Given the description of an element on the screen output the (x, y) to click on. 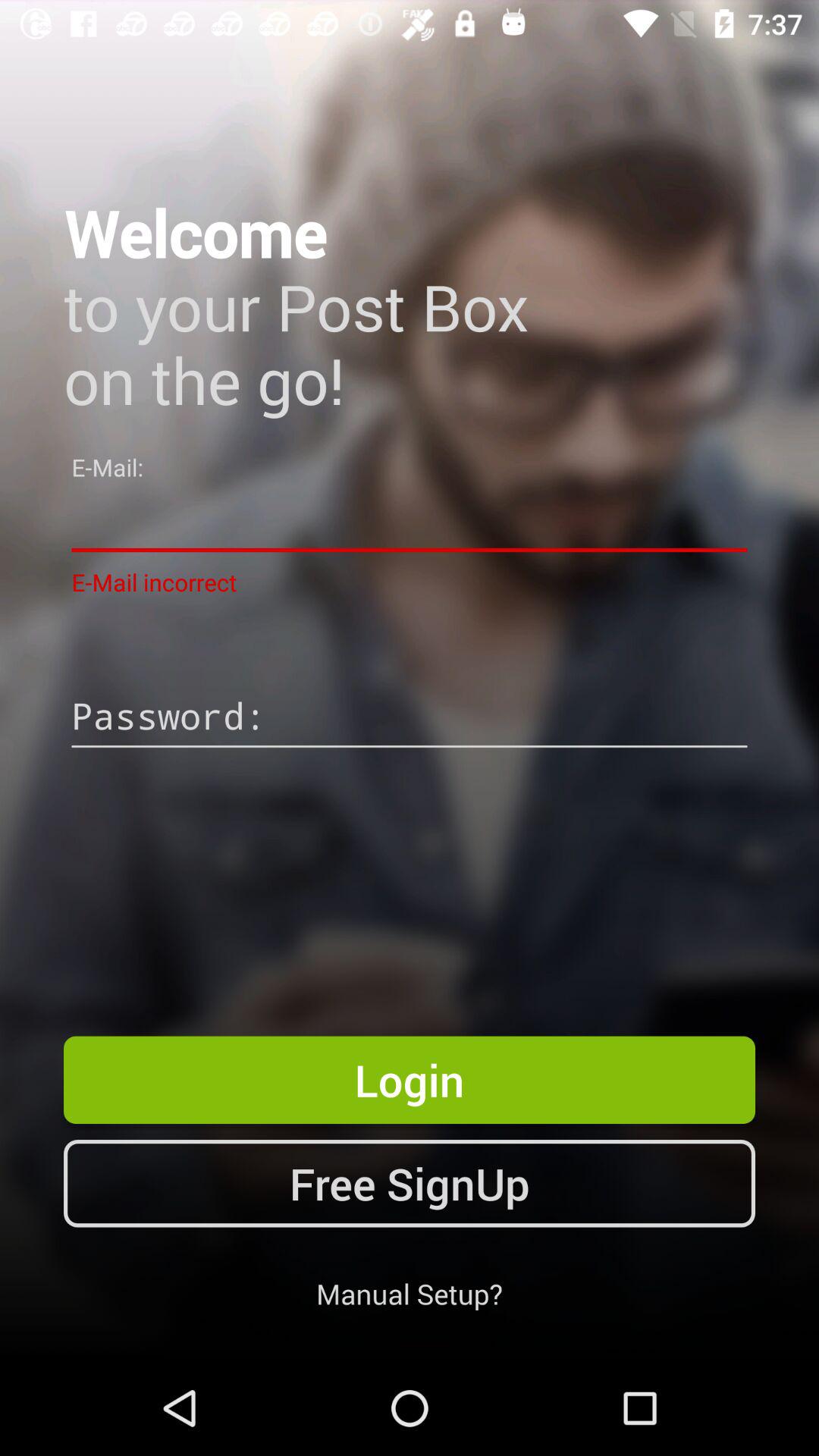
enter your email (409, 520)
